Given the description of an element on the screen output the (x, y) to click on. 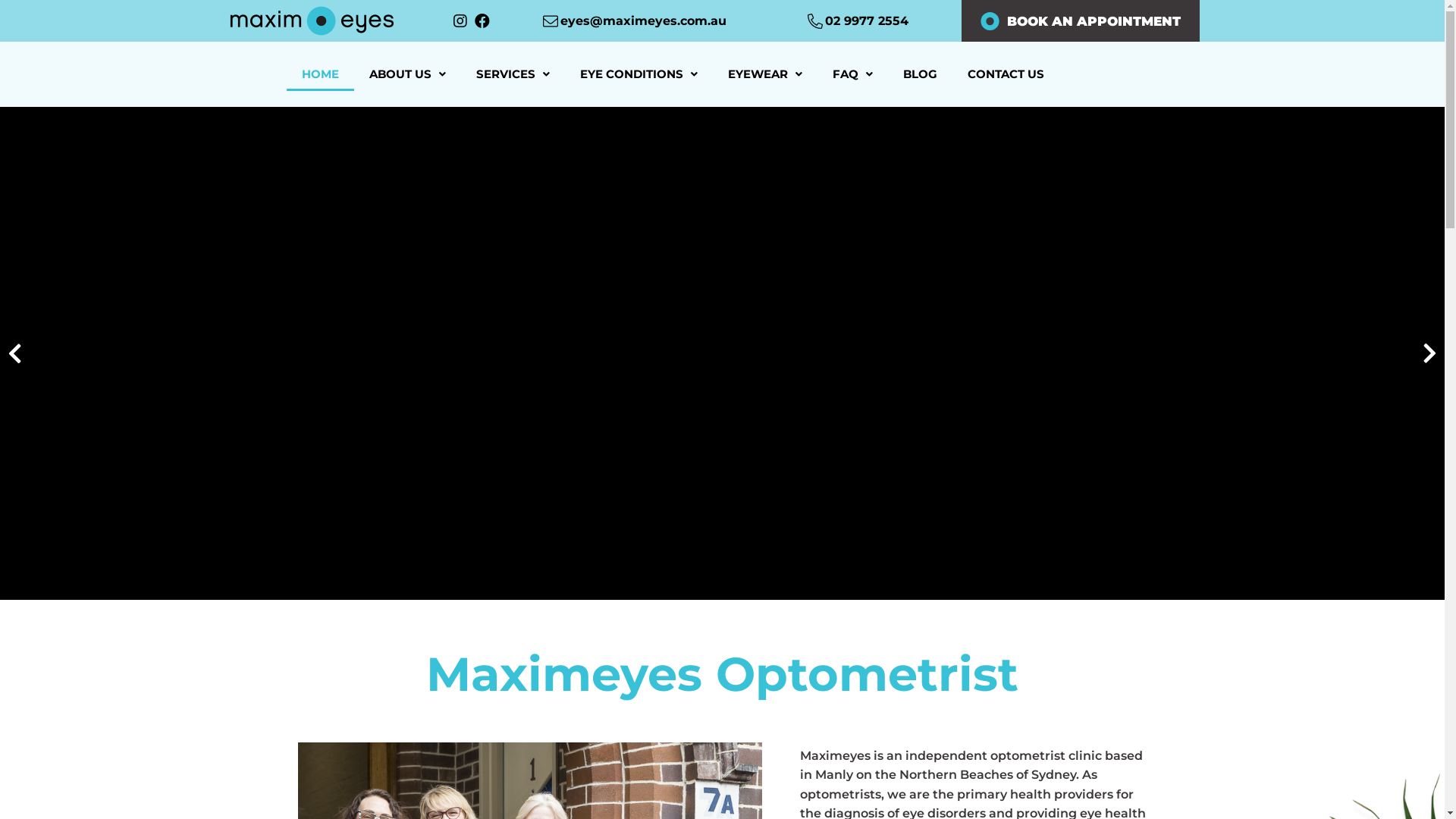
Facebook Element type: text (482, 21)
FAQ Element type: text (852, 73)
Instagram Element type: text (460, 21)
BOOK AN APPOINTMENT Element type: text (1080, 20)
eyes@maximeyes.com.au Element type: text (643, 20)
HOME Element type: text (320, 73)
SERVICES Element type: text (512, 73)
ABOUT US Element type: text (407, 73)
EYE CONDITIONS Element type: text (638, 73)
EYEWEAR Element type: text (764, 73)
BLOG Element type: text (920, 73)
CONTACT US Element type: text (1005, 73)
02 9977 2554 Element type: text (866, 20)
